Given the description of an element on the screen output the (x, y) to click on. 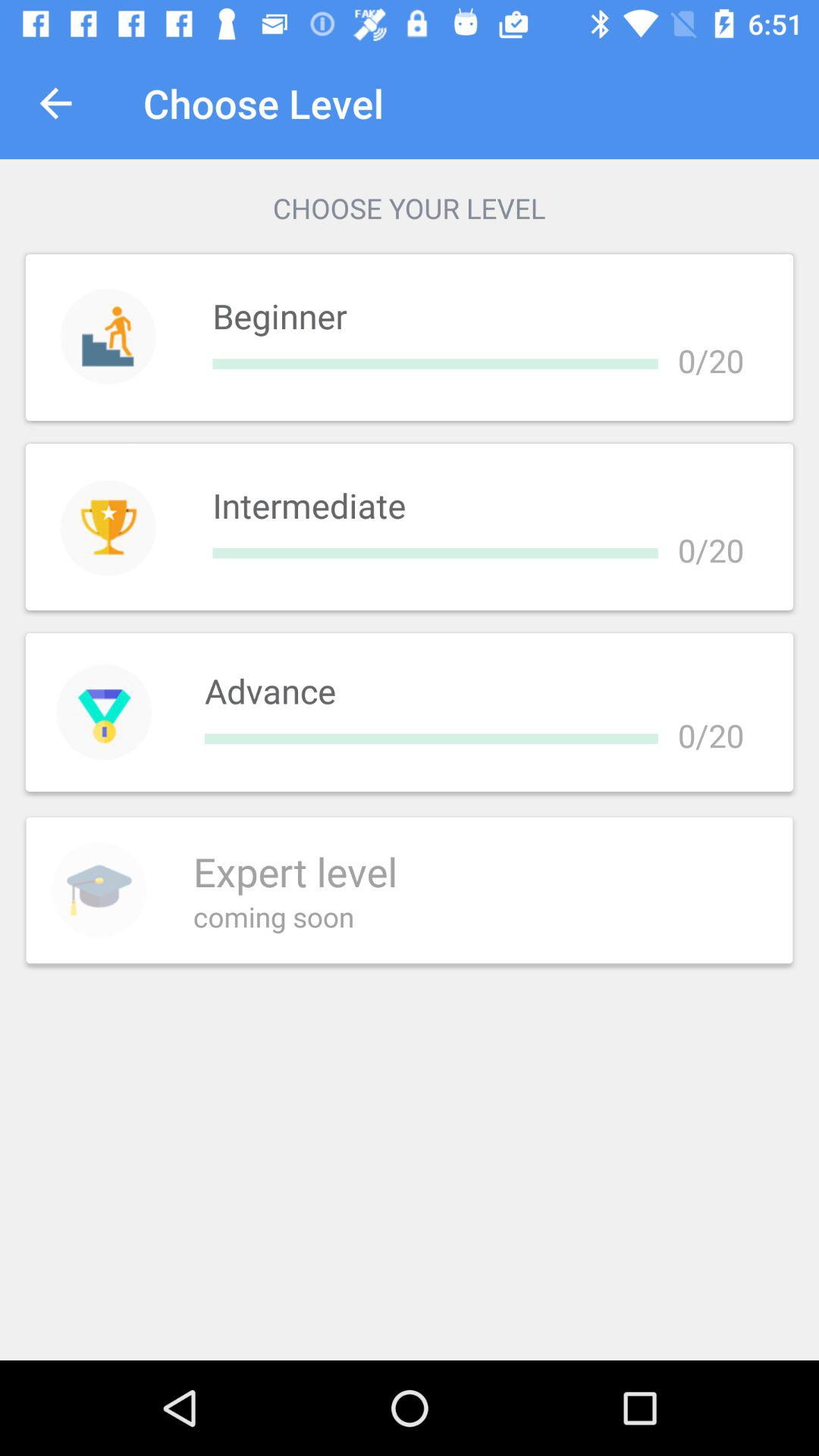
select the item to the left of choose level icon (55, 103)
